Given the description of an element on the screen output the (x, y) to click on. 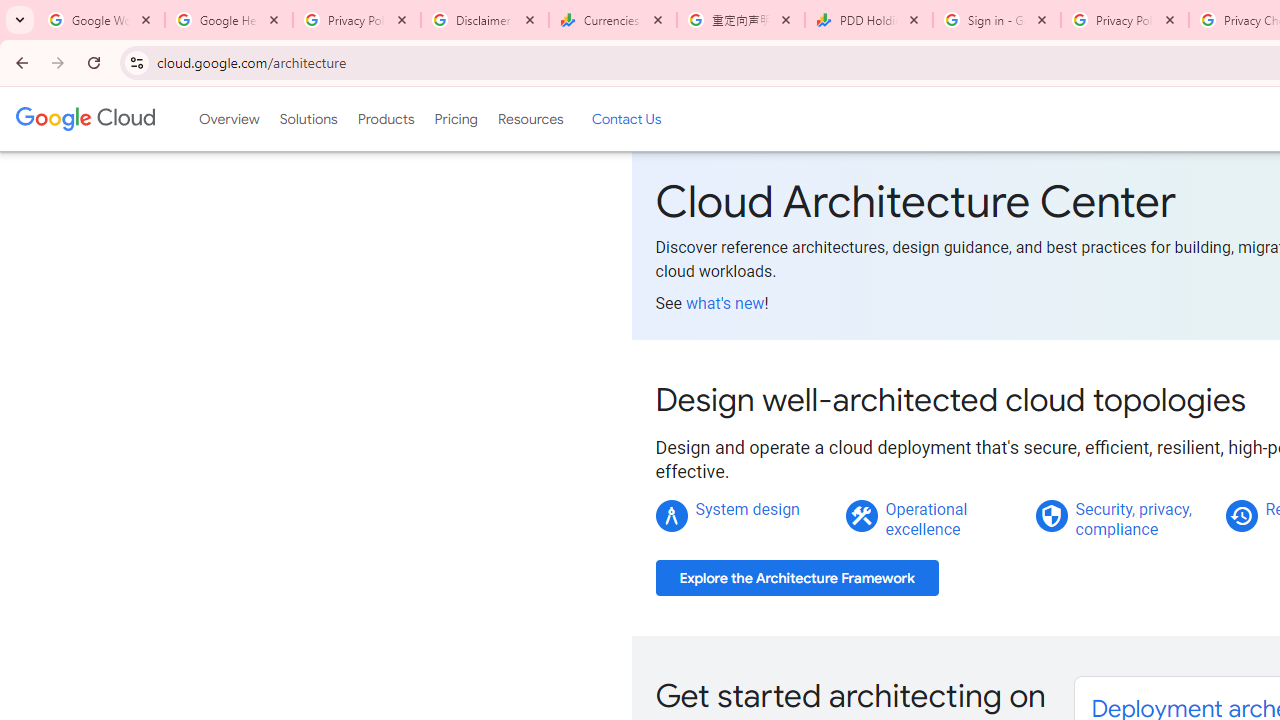
Operational excellence (925, 519)
Resources (530, 119)
Google Cloud (84, 118)
Contact Us (626, 119)
Pricing (455, 119)
Explore the Architecture Framework (797, 578)
